Given the description of an element on the screen output the (x, y) to click on. 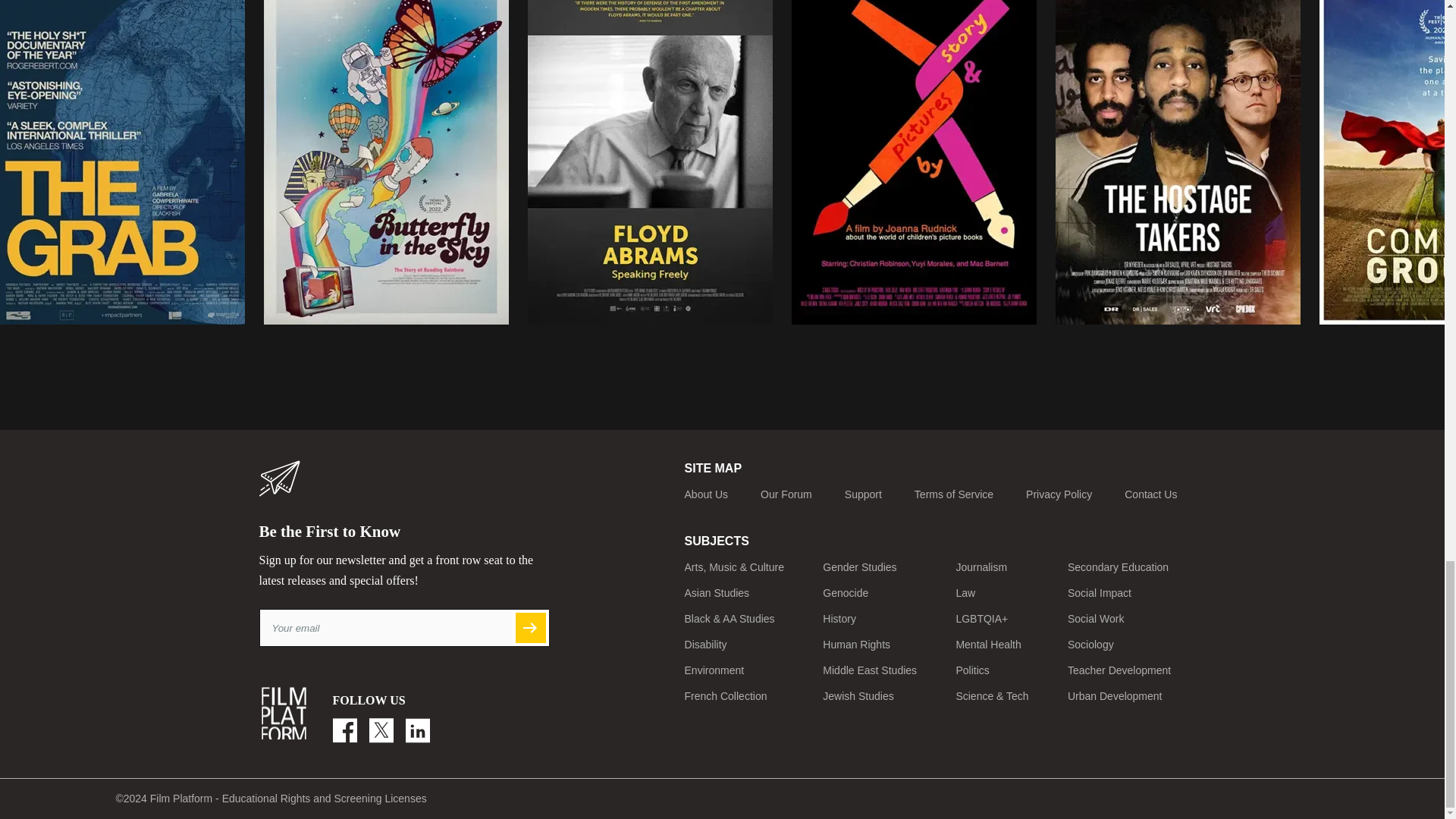
Story Pictures By poster web (914, 162)
The Grab poster web (122, 162)
